Given the description of an element on the screen output the (x, y) to click on. 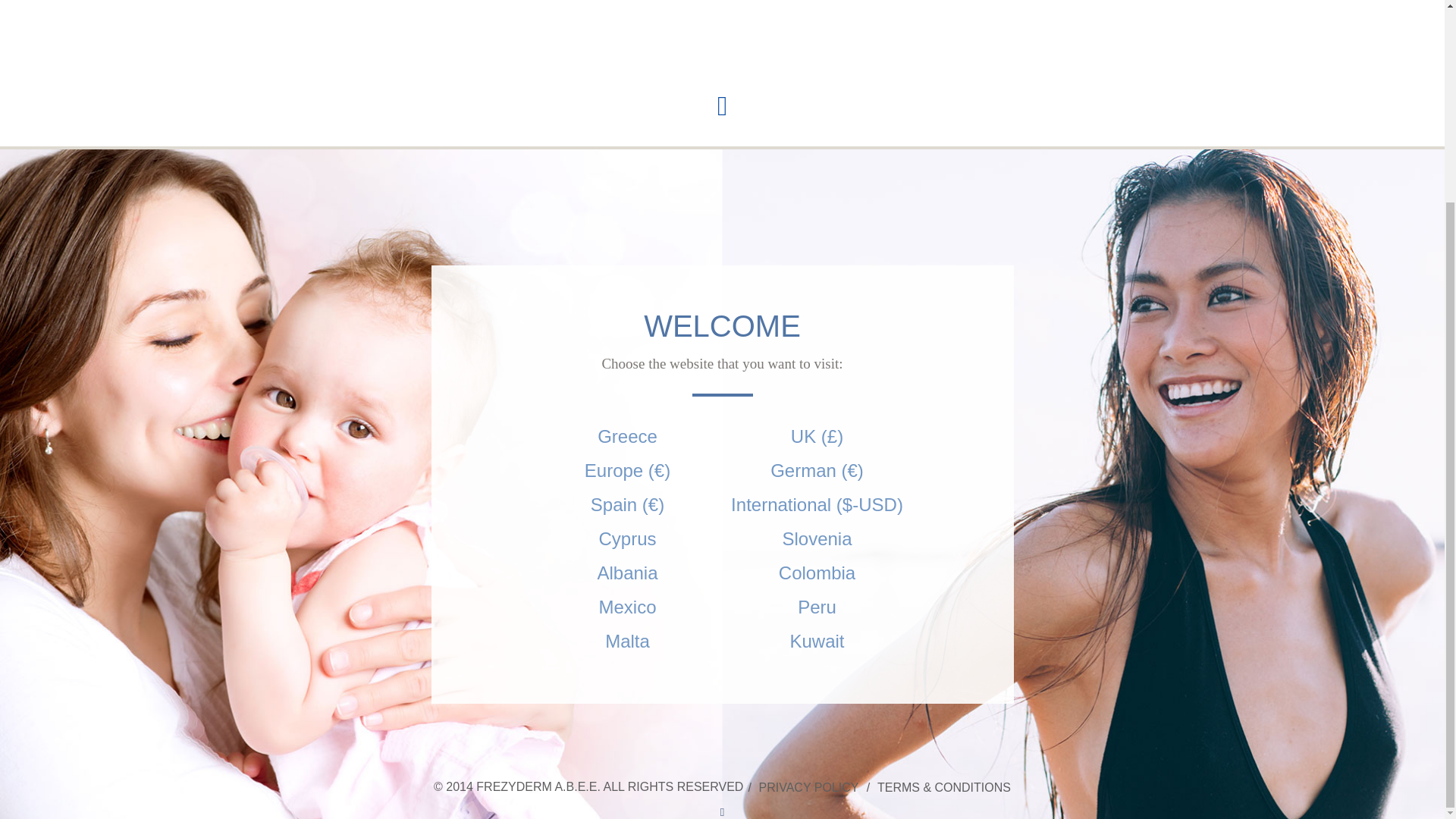
Colombia (816, 313)
Malta (627, 381)
Cyprus (627, 280)
Kuwait (816, 381)
Peru (816, 348)
Peru (816, 348)
Mexico (627, 348)
Slovenia (816, 280)
Kuwait (816, 381)
Cyprus (627, 280)
Malta (627, 381)
Albania (627, 313)
PRIVACY POLICY (808, 529)
Albania (627, 313)
Mexico (627, 348)
